Given the description of an element on the screen output the (x, y) to click on. 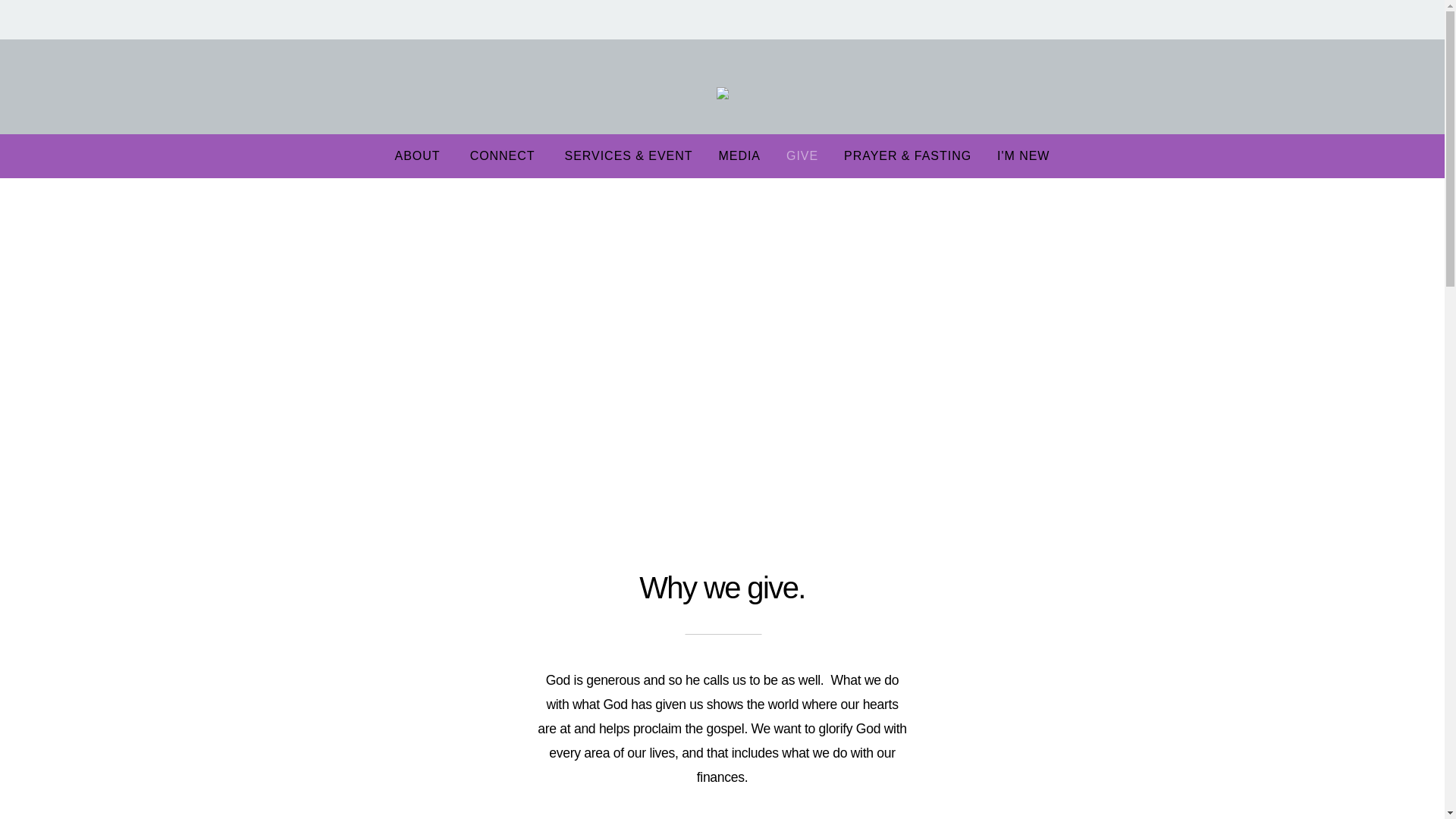
GIVE (801, 155)
I'M NEW (1023, 155)
CONNECT  (504, 155)
ABOUT  (419, 155)
MEDIA (738, 155)
